Given the description of an element on the screen output the (x, y) to click on. 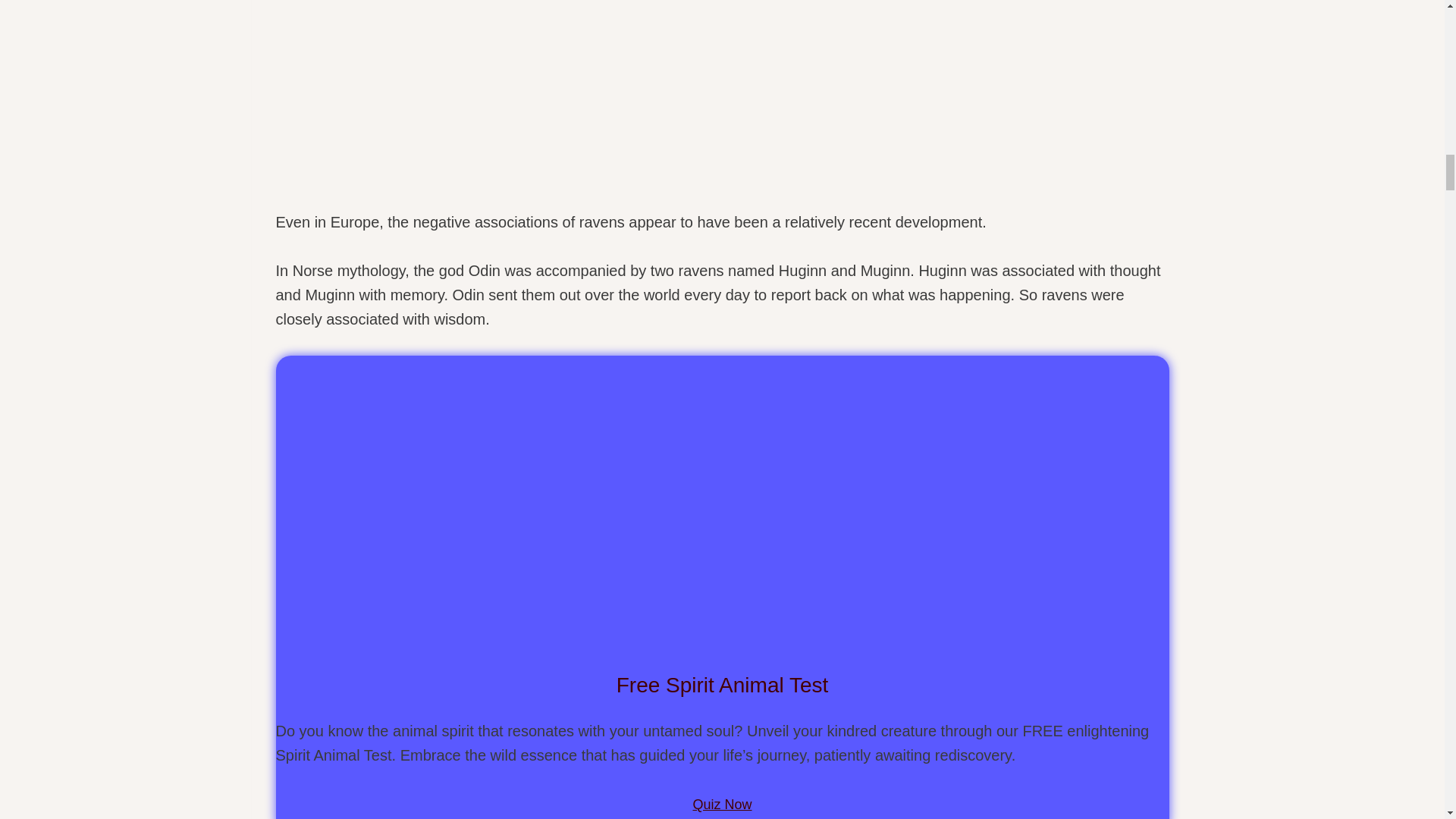
Quiz Now (721, 801)
